Given the description of an element on the screen output the (x, y) to click on. 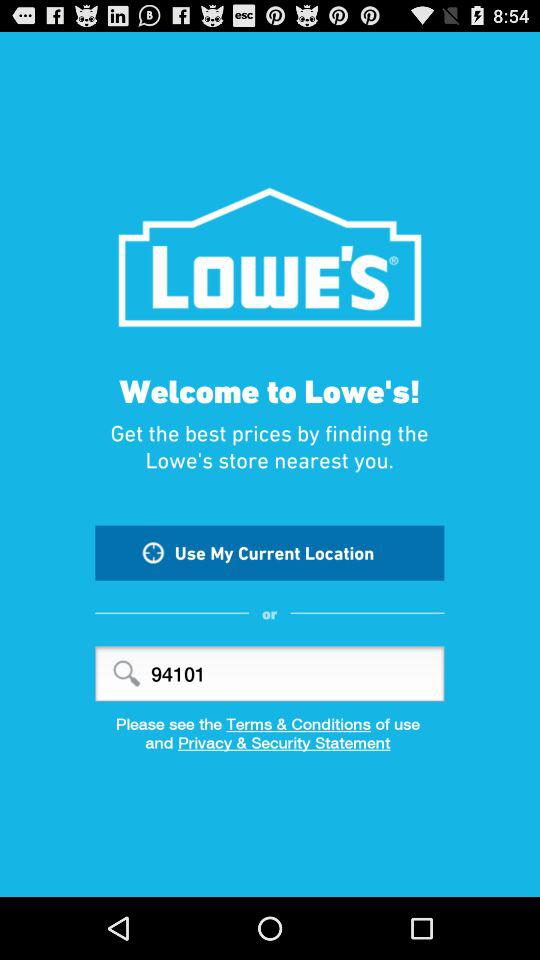
turn off icon above the please see the (269, 673)
